Given the description of an element on the screen output the (x, y) to click on. 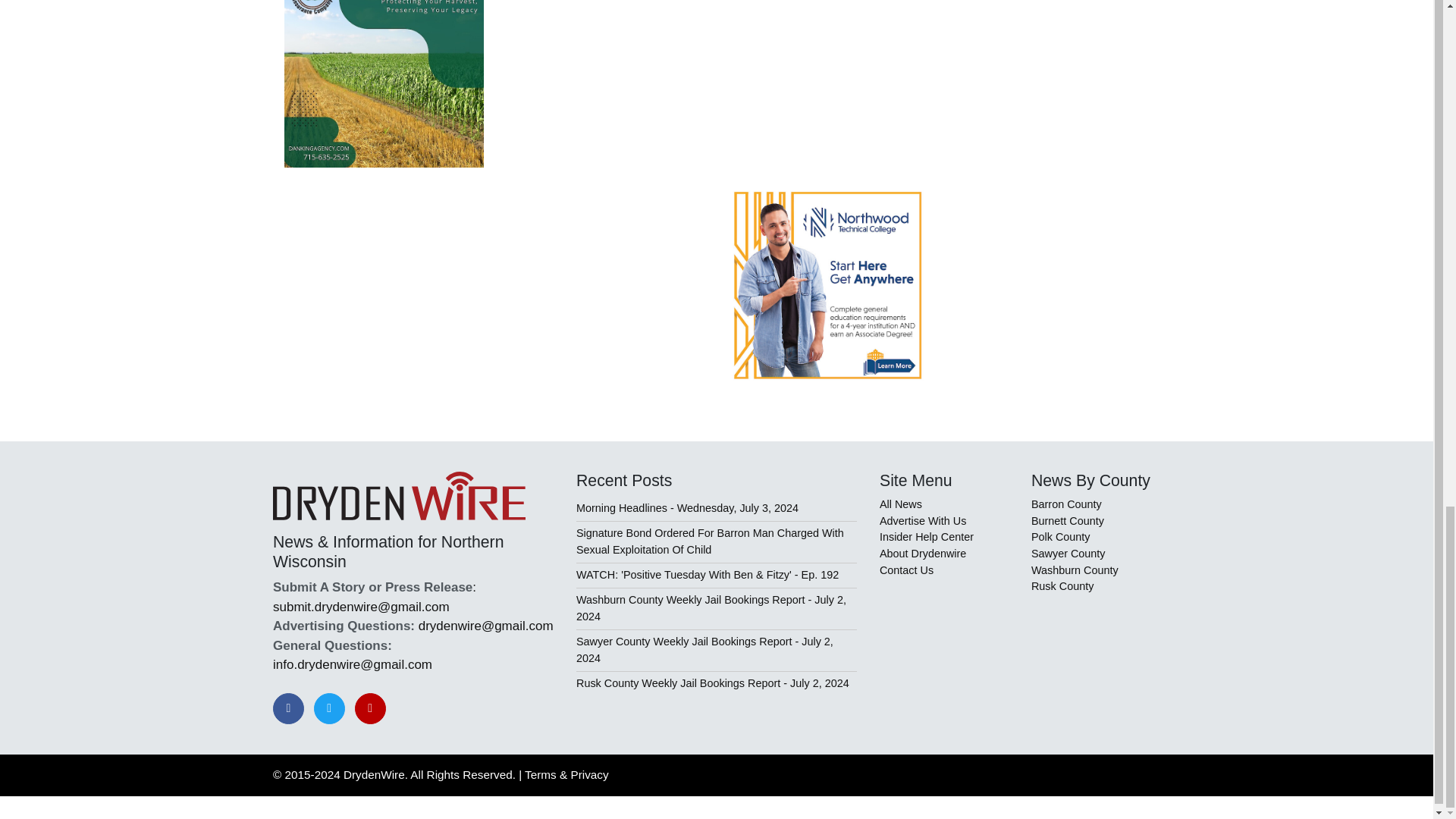
Your Local Insurance Company (383, 84)
